Given the description of an element on the screen output the (x, y) to click on. 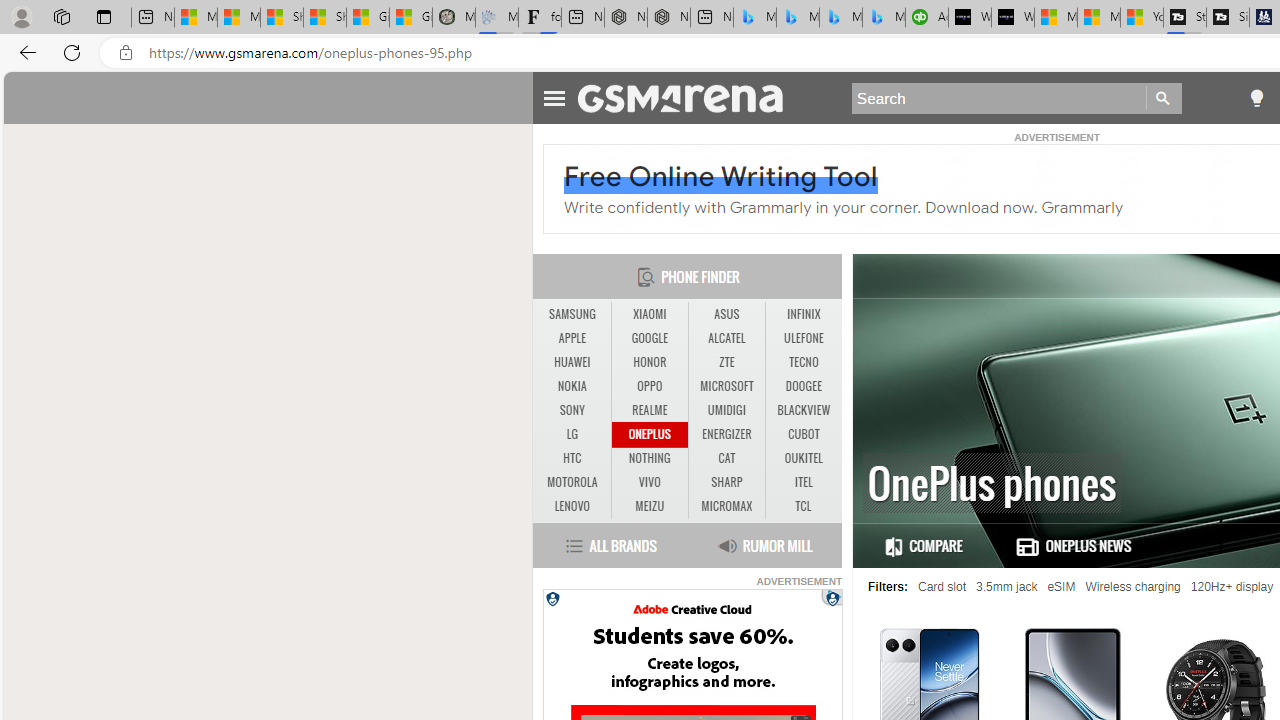
ENERGIZER (726, 434)
NOTHING (649, 457)
XIAOMI (649, 313)
SHARP (726, 482)
MICROSOFT (726, 385)
CUBOT (803, 434)
VIVO (649, 483)
To get missing image descriptions, open the context menu. (832, 598)
TCL (802, 506)
LENOVO (571, 506)
Gilma and Hector both pose tropical trouble for Hawaii (411, 17)
VIVO (649, 482)
